Given the description of an element on the screen output the (x, y) to click on. 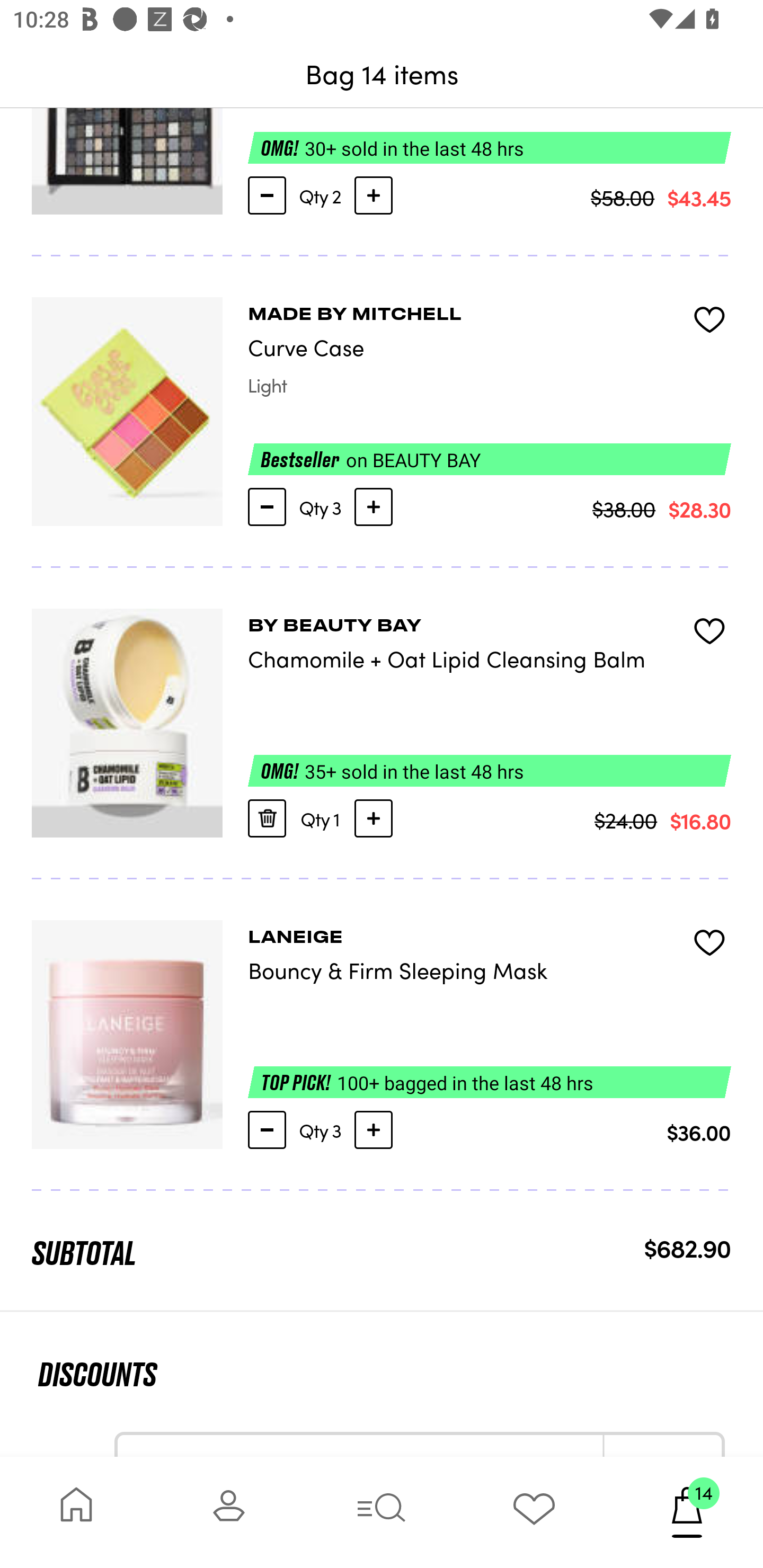
14 (686, 1512)
